Given the description of an element on the screen output the (x, y) to click on. 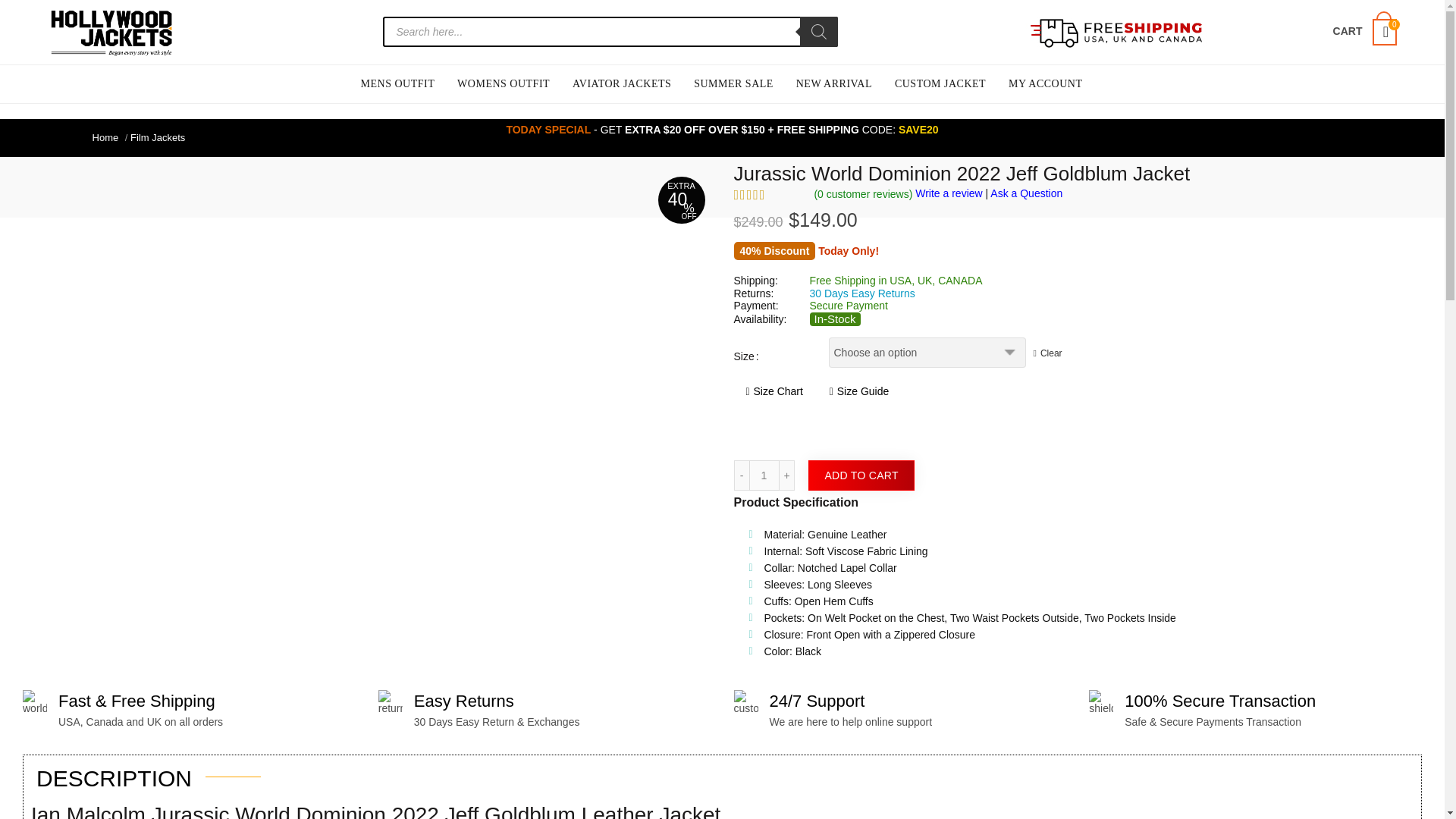
customer-support (745, 702)
Rated 0 out of 5 (768, 194)
Qty (763, 475)
1 (763, 475)
